Given the description of an element on the screen output the (x, y) to click on. 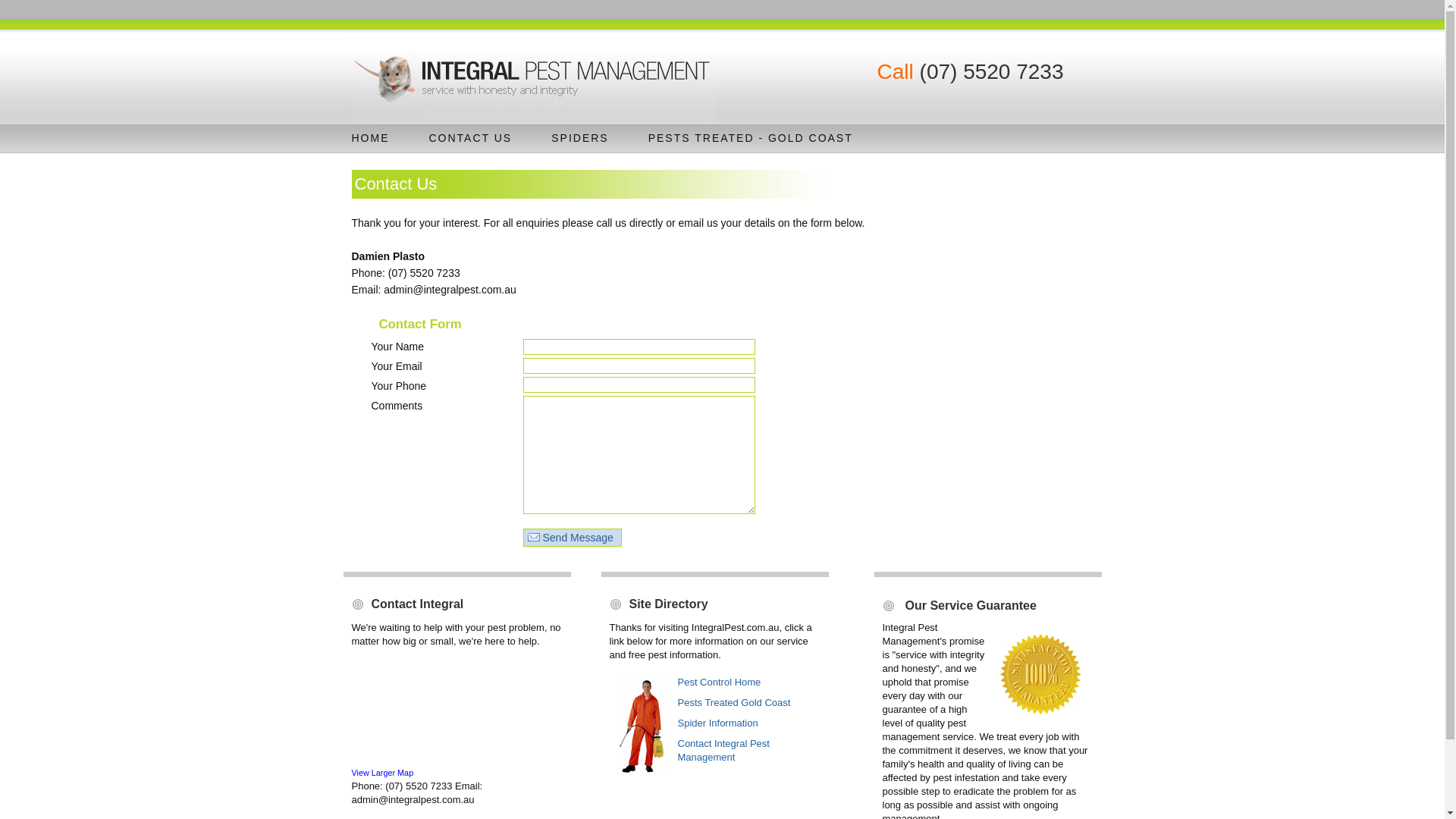
View Larger Map Element type: text (382, 772)
Pests Treated Gold Coast Element type: text (733, 702)
Contact Integral Pest Management Element type: text (723, 749)
HOME Element type: text (369, 137)
Send Message Element type: text (572, 537)
CONTACT US Element type: text (470, 137)
SPIDERS Element type: text (579, 137)
Pest Control Home Element type: text (719, 681)
Spider Information Element type: text (717, 722)
PESTS TREATED - GOLD COAST Element type: text (750, 137)
